Given the description of an element on the screen output the (x, y) to click on. 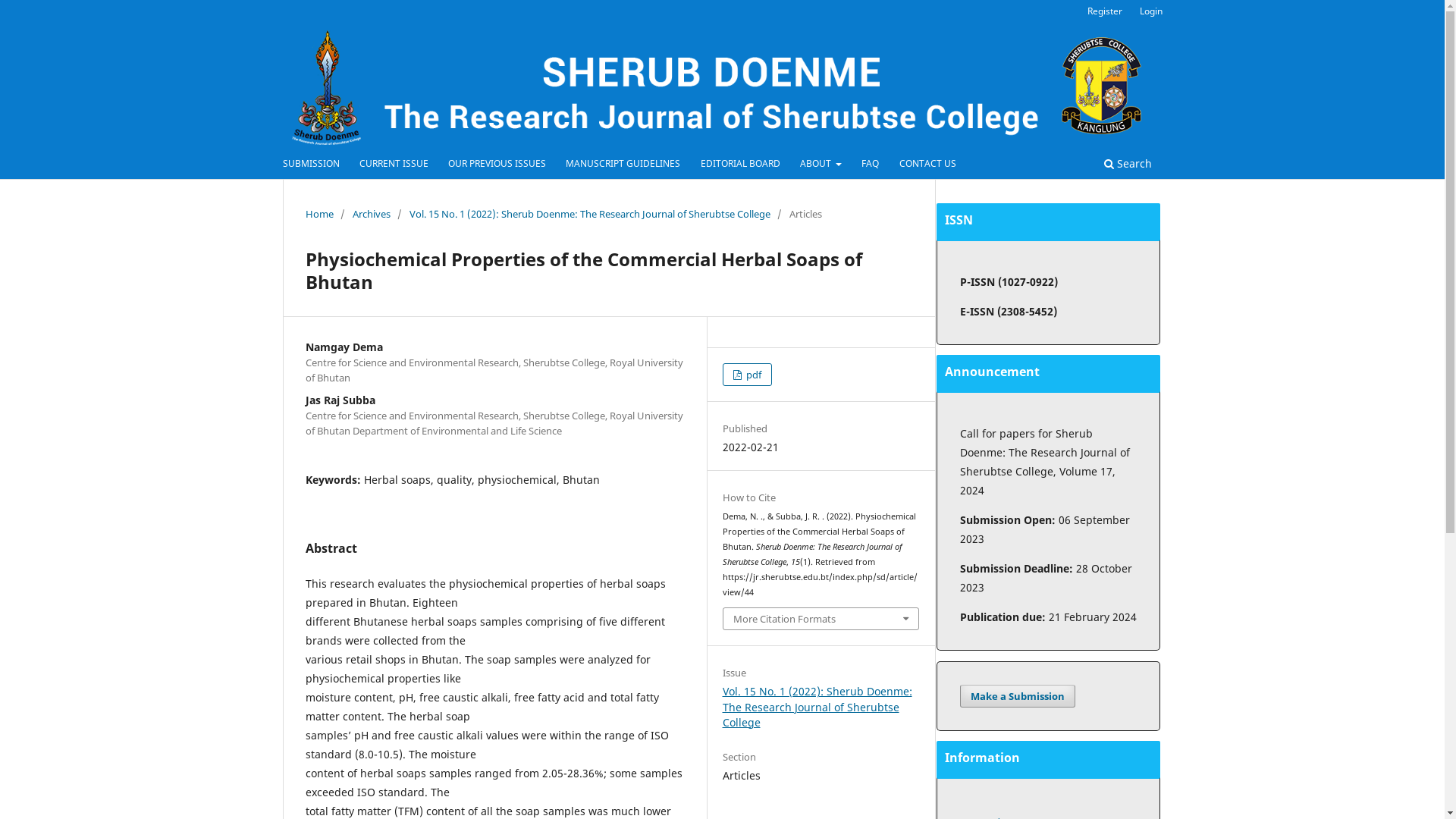
FAQ Element type: text (869, 165)
OUR PREVIOUS ISSUES Element type: text (496, 165)
ABOUT Element type: text (820, 165)
Archives Element type: text (370, 213)
CURRENT ISSUE Element type: text (393, 165)
EDITORIAL BOARD Element type: text (740, 165)
Login Element type: text (1151, 11)
CONTACT US Element type: text (927, 165)
pdf Element type: text (746, 374)
SUBMISSION Element type: text (311, 165)
Search Element type: text (1127, 165)
Home Element type: text (318, 213)
Make a Submission Element type: text (1017, 695)
MANUSCRIPT GUIDELINES Element type: text (623, 165)
More Citation Formats Element type: text (821, 618)
Register Element type: text (1104, 11)
